Given the description of an element on the screen output the (x, y) to click on. 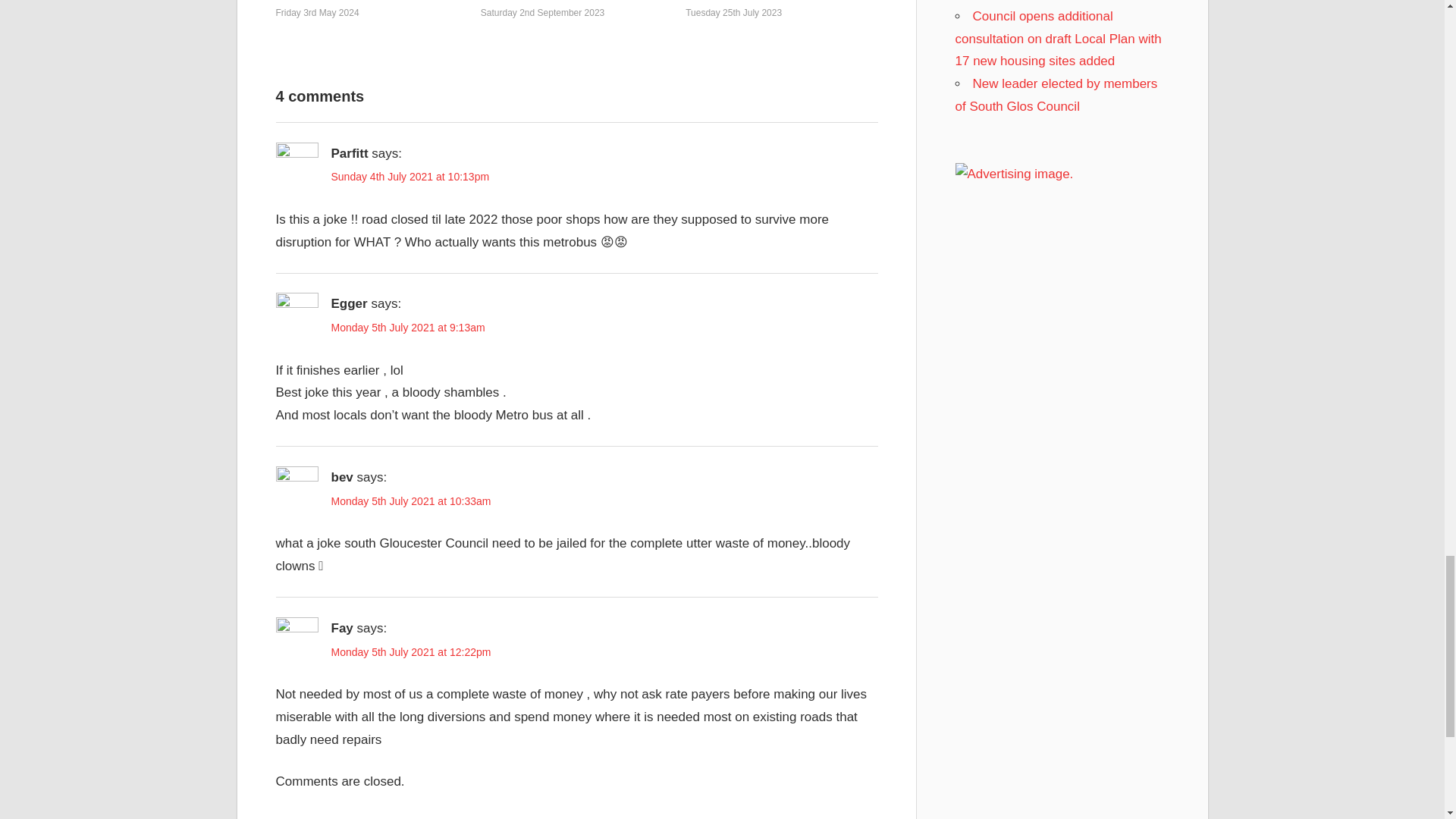
3:27pm (317, 12)
